Given the description of an element on the screen output the (x, y) to click on. 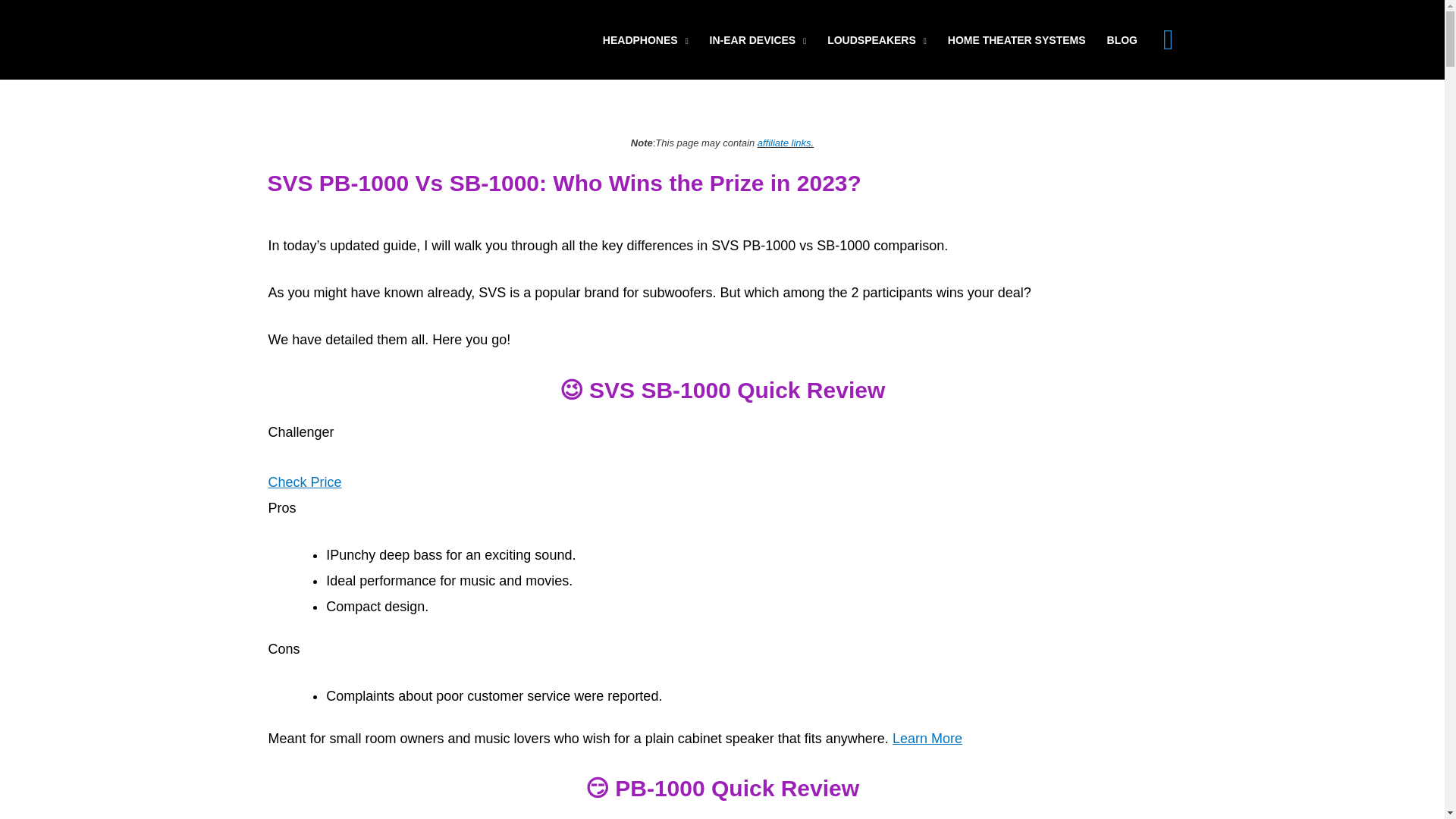
HOME THEATER SYSTEMS (1016, 39)
LOUDSPEAKERS (876, 39)
BLOG (1122, 39)
Check Price (304, 482)
HEADPHONES (645, 39)
affiliate links (783, 142)
Learn More (927, 738)
IN-EAR DEVICES (757, 39)
